Given the description of an element on the screen output the (x, y) to click on. 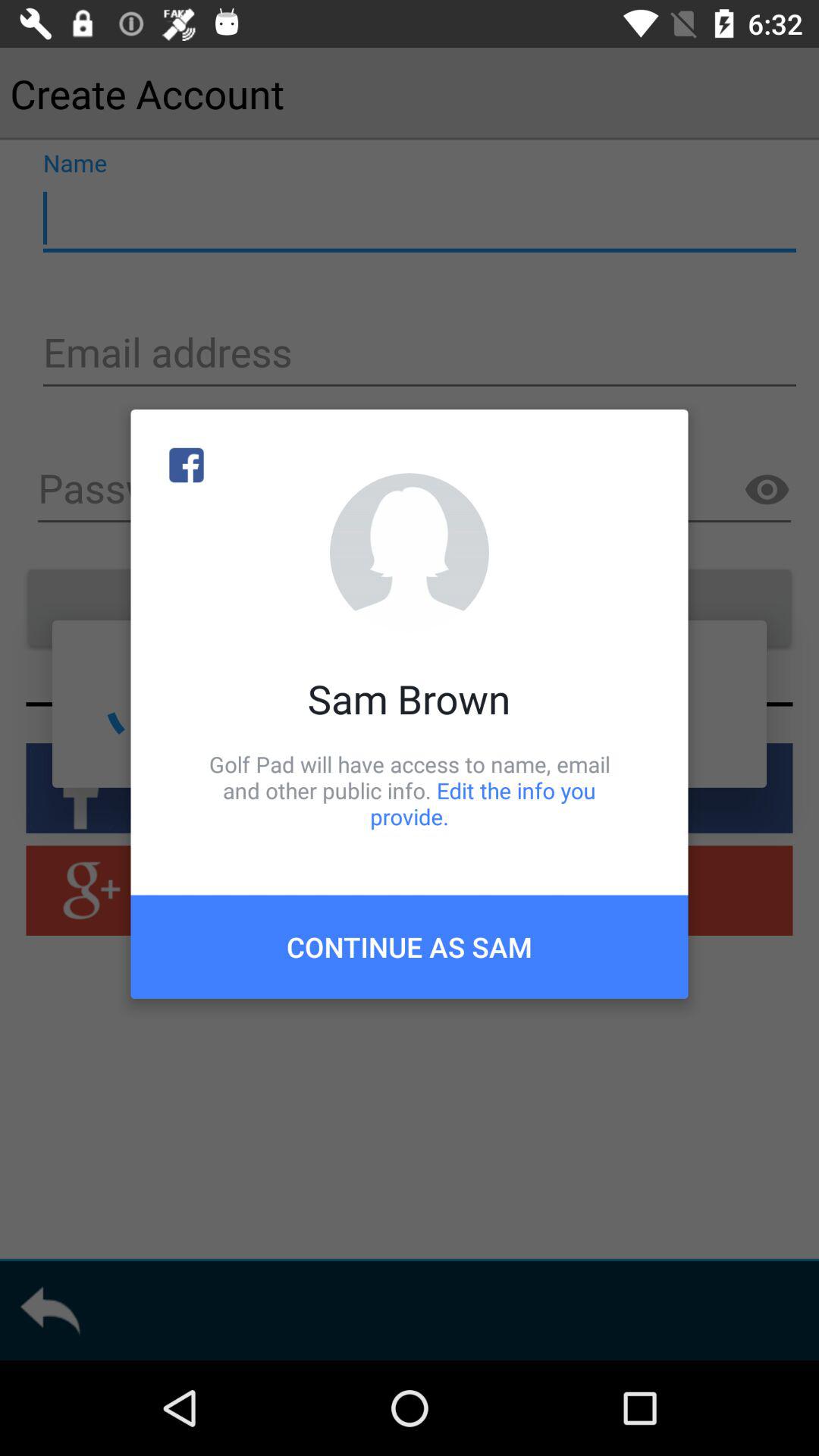
choose golf pad will (409, 790)
